Given the description of an element on the screen output the (x, y) to click on. 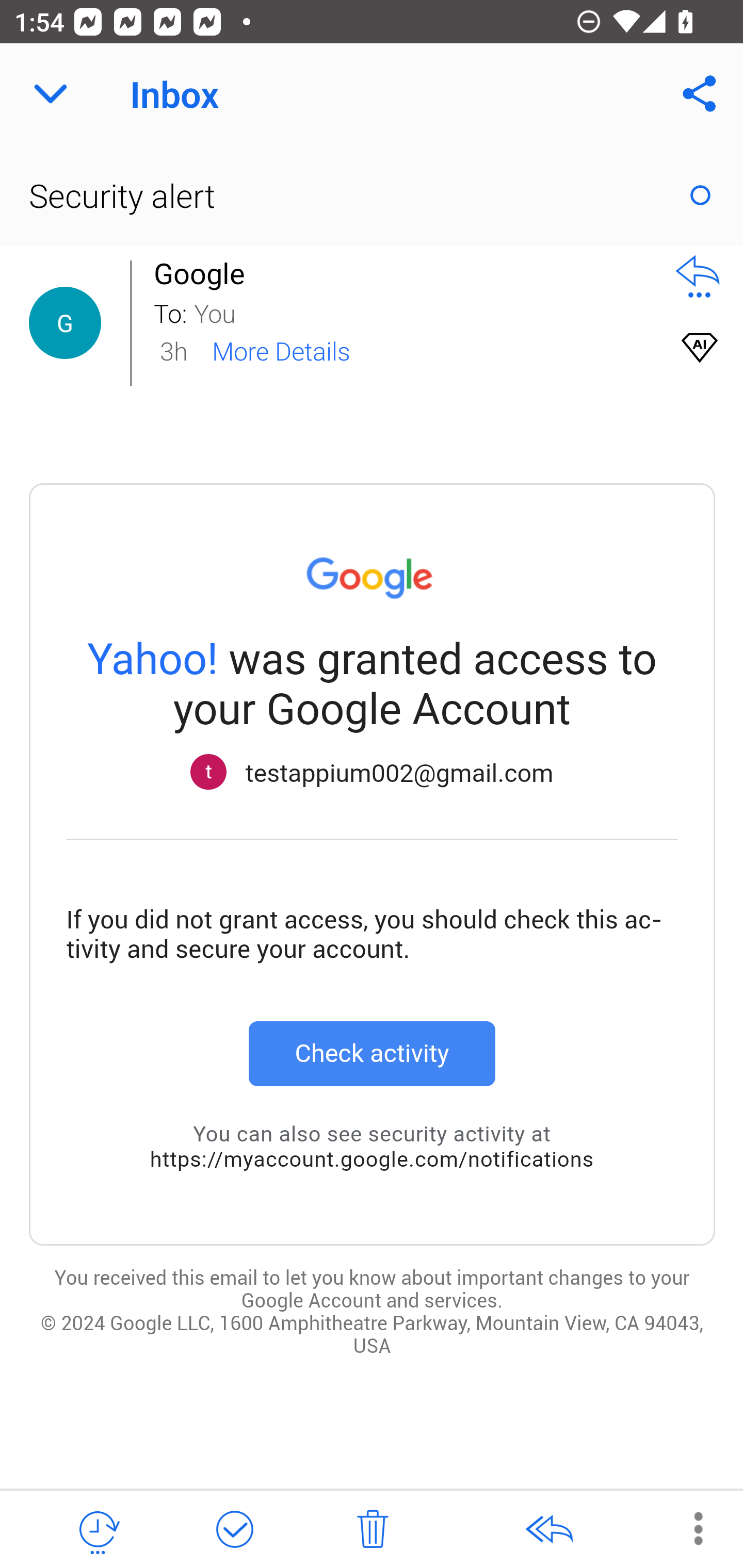
Navigate up (50, 93)
Share (699, 93)
Mark as Read (699, 194)
Google (204, 273)
Contact Details (64, 322)
You (422, 311)
More Details (280, 349)
Check activity (371, 1052)
More Options (687, 1528)
Snooze (97, 1529)
Mark as Done (234, 1529)
Delete (372, 1529)
Reply All (548, 1529)
